Given the description of an element on the screen output the (x, y) to click on. 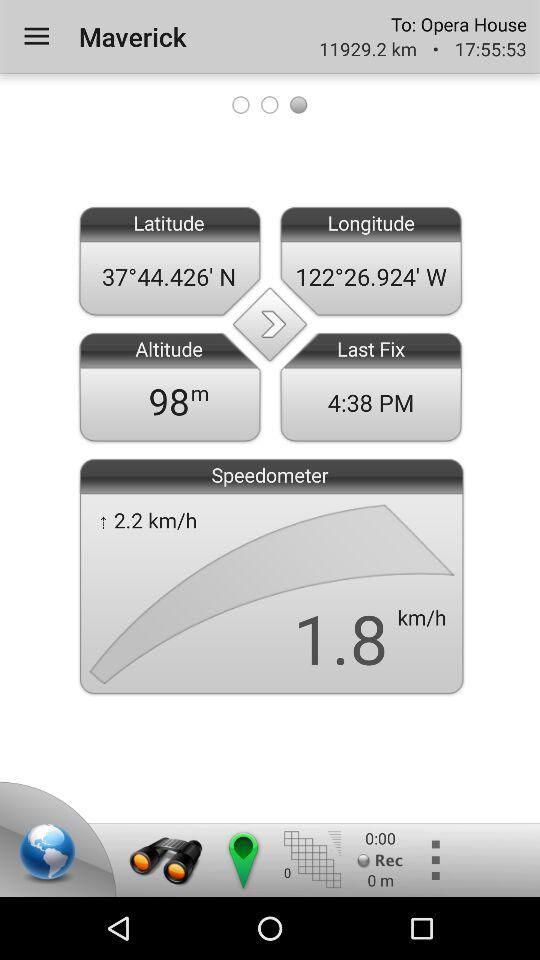
more options (434, 860)
